Given the description of an element on the screen output the (x, y) to click on. 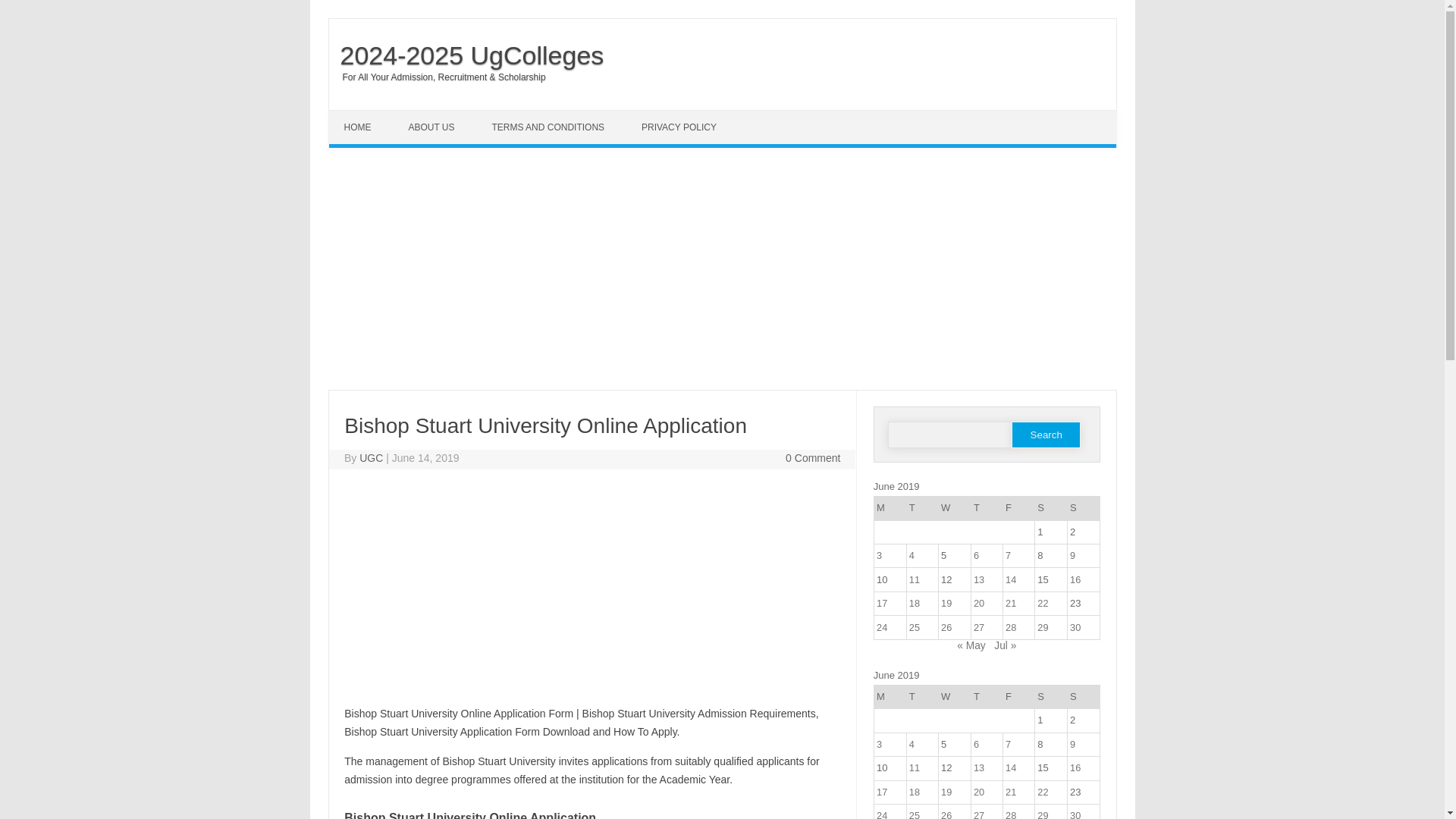
Friday (1018, 508)
ABOUT US (433, 127)
Posts by UGC (370, 458)
Tuesday (921, 508)
25 (914, 627)
Monday (889, 508)
Saturday (1051, 508)
20 (979, 603)
Skip to content (363, 114)
Skip to content (363, 114)
2024-2025 UgColleges (466, 54)
HOME (359, 127)
18 (914, 603)
19 (946, 603)
